Given the description of an element on the screen output the (x, y) to click on. 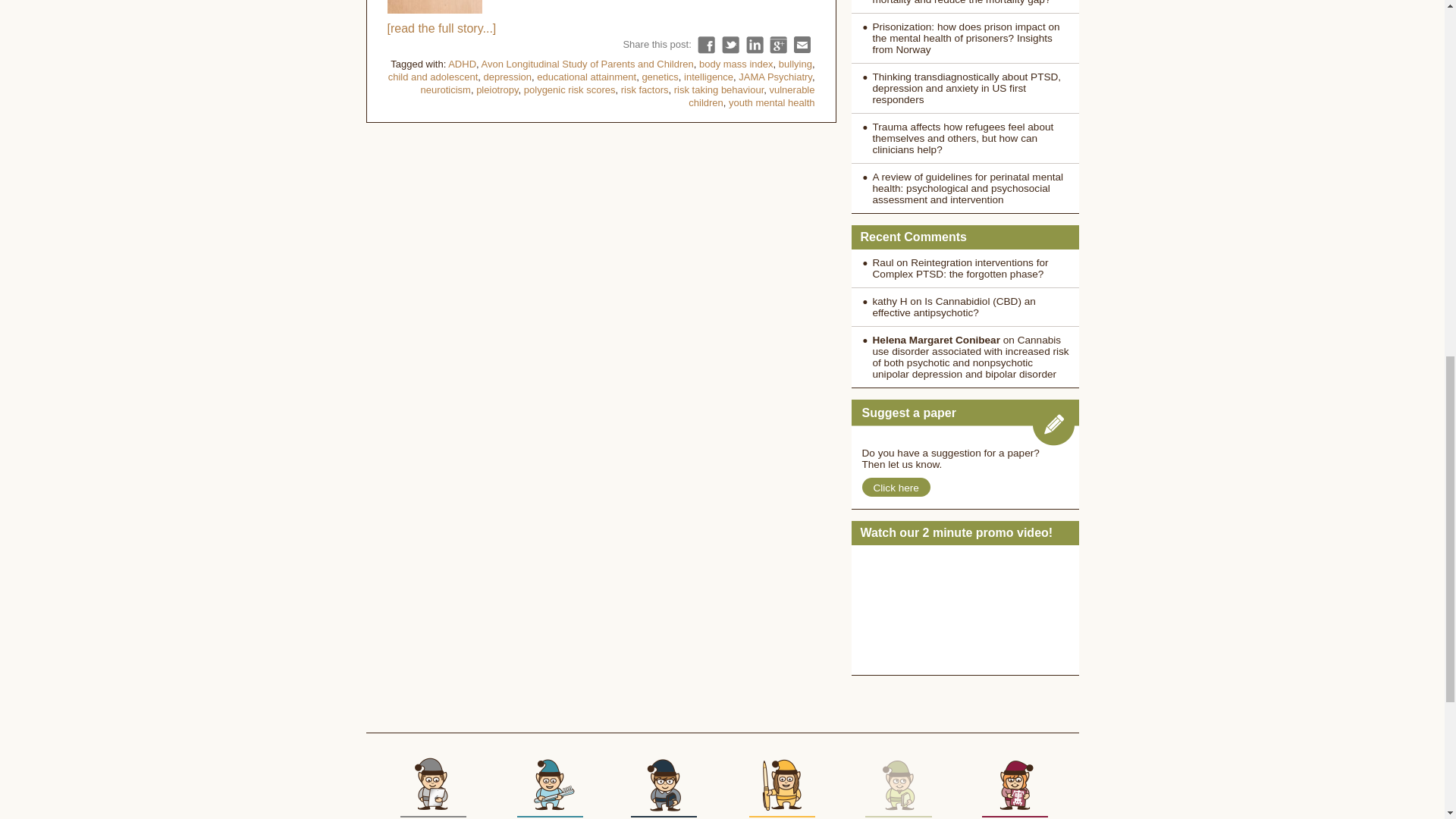
Share on LinkedIn (753, 45)
Share via email (801, 45)
Share on Facebook (705, 45)
Tweet this on Twitter (730, 45)
